Given the description of an element on the screen output the (x, y) to click on. 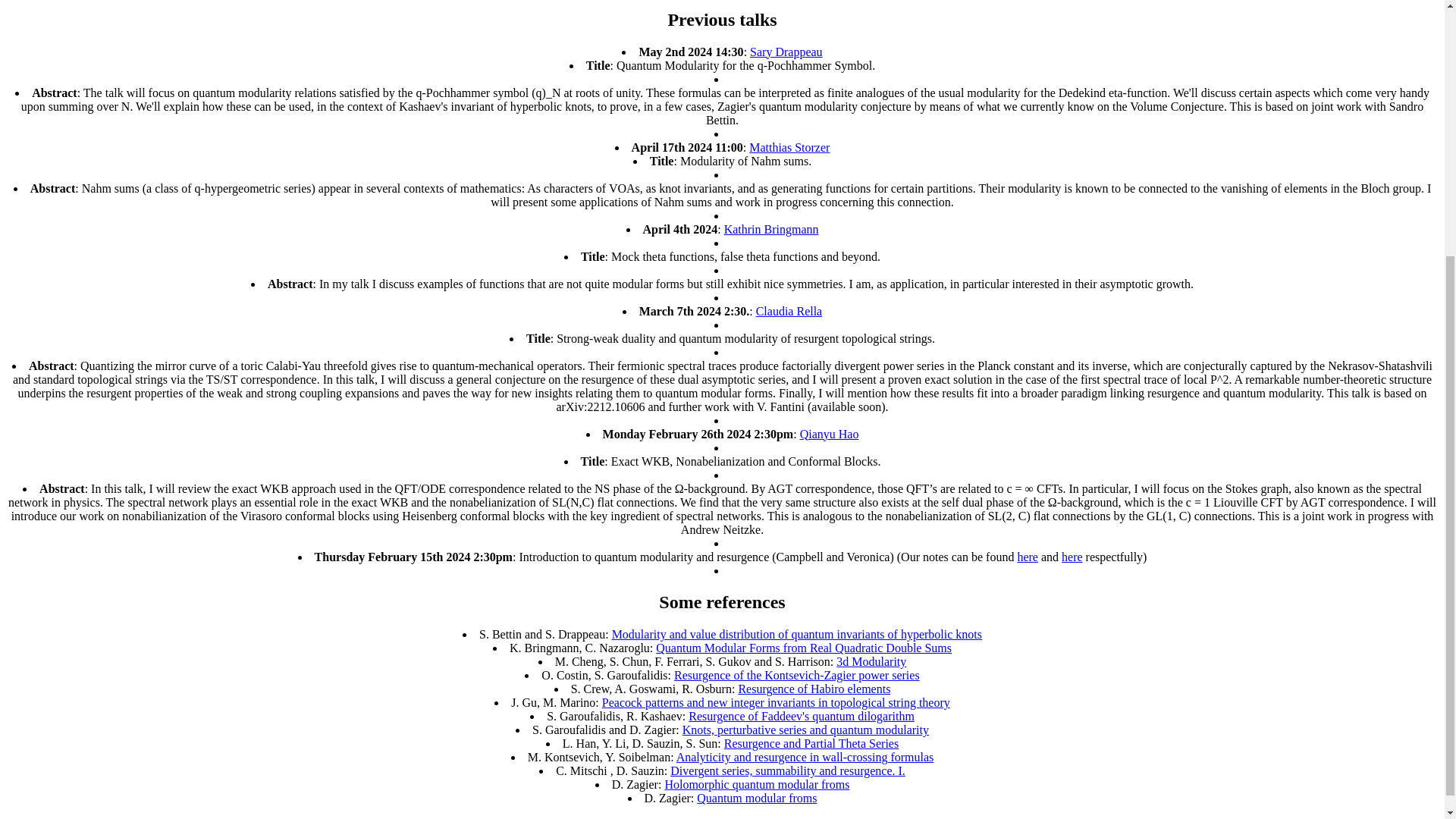
Claudia Rella (788, 310)
Resurgence of the Kontsevich-Zagier power series (797, 675)
Resurgence of Faddeev's quantum dilogarithm (801, 716)
here (1027, 556)
Resurgence of Habiro elements (813, 688)
Sary Drappeau (785, 51)
Quantum Modular Forms from Real Quadratic Double Sums (804, 647)
Analyticity and resurgence in wall-crossing formulas (805, 757)
Knots, perturbative series and quantum modularity (805, 729)
